Given the description of an element on the screen output the (x, y) to click on. 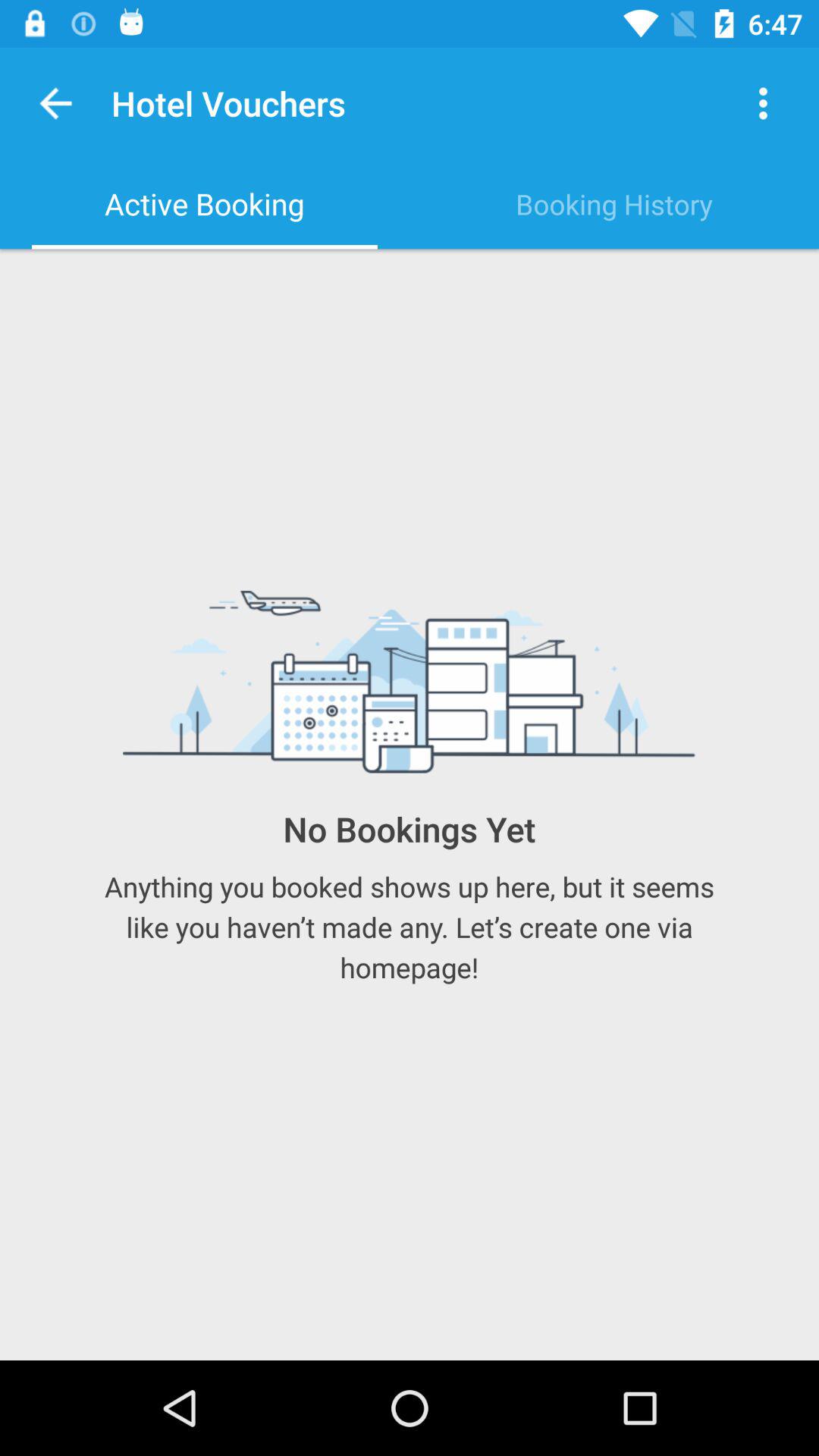
menu (763, 103)
